Given the description of an element on the screen output the (x, y) to click on. 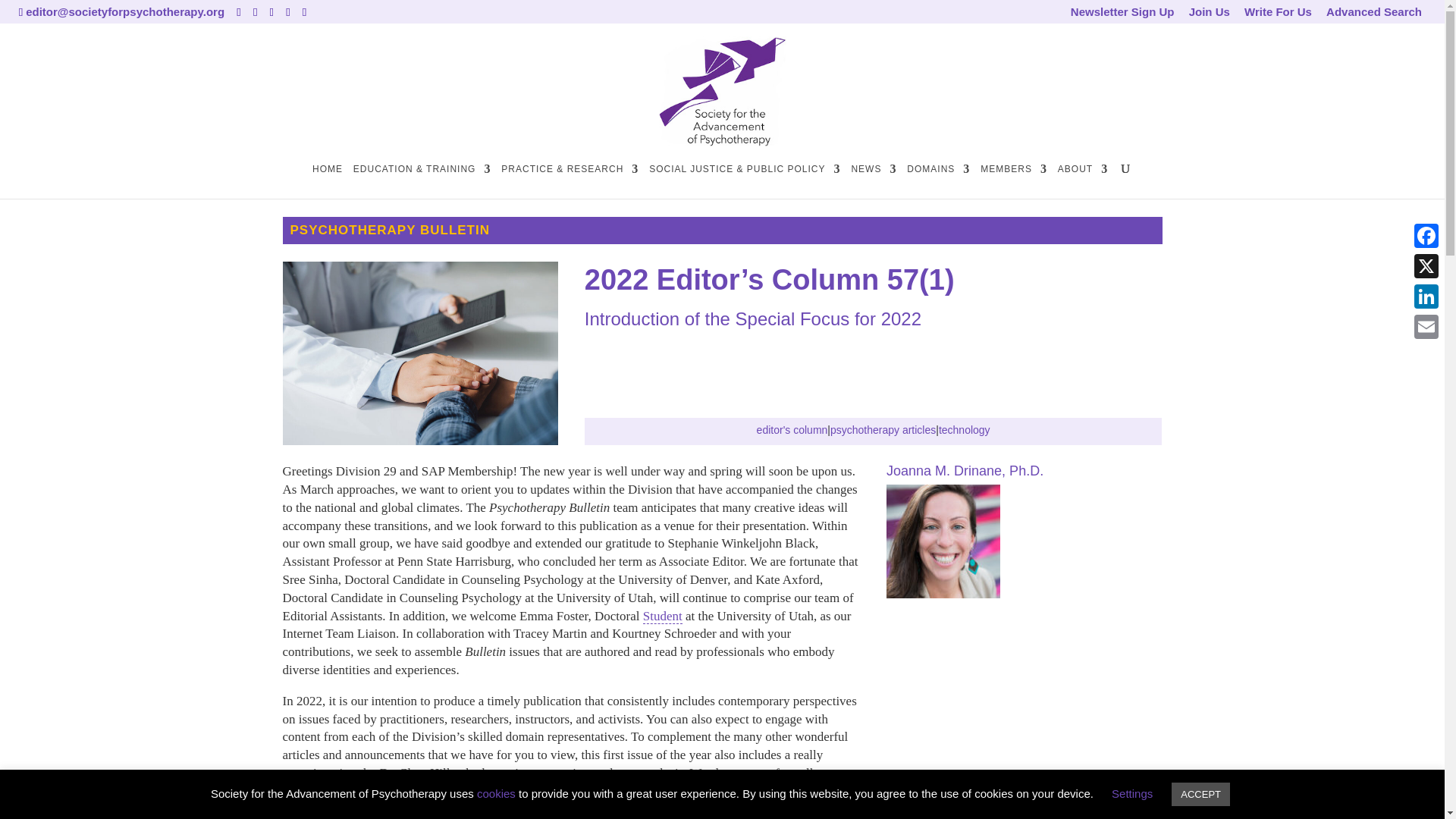
Advanced Search (1374, 14)
Email (1425, 327)
Student (662, 616)
Join Us (1209, 14)
Write For Us (1277, 14)
outcome (710, 809)
Newsletter Sign Up (1122, 14)
NEWS (873, 181)
LinkedIn (1425, 296)
Facebook (1425, 235)
X (1425, 265)
